Given the description of an element on the screen output the (x, y) to click on. 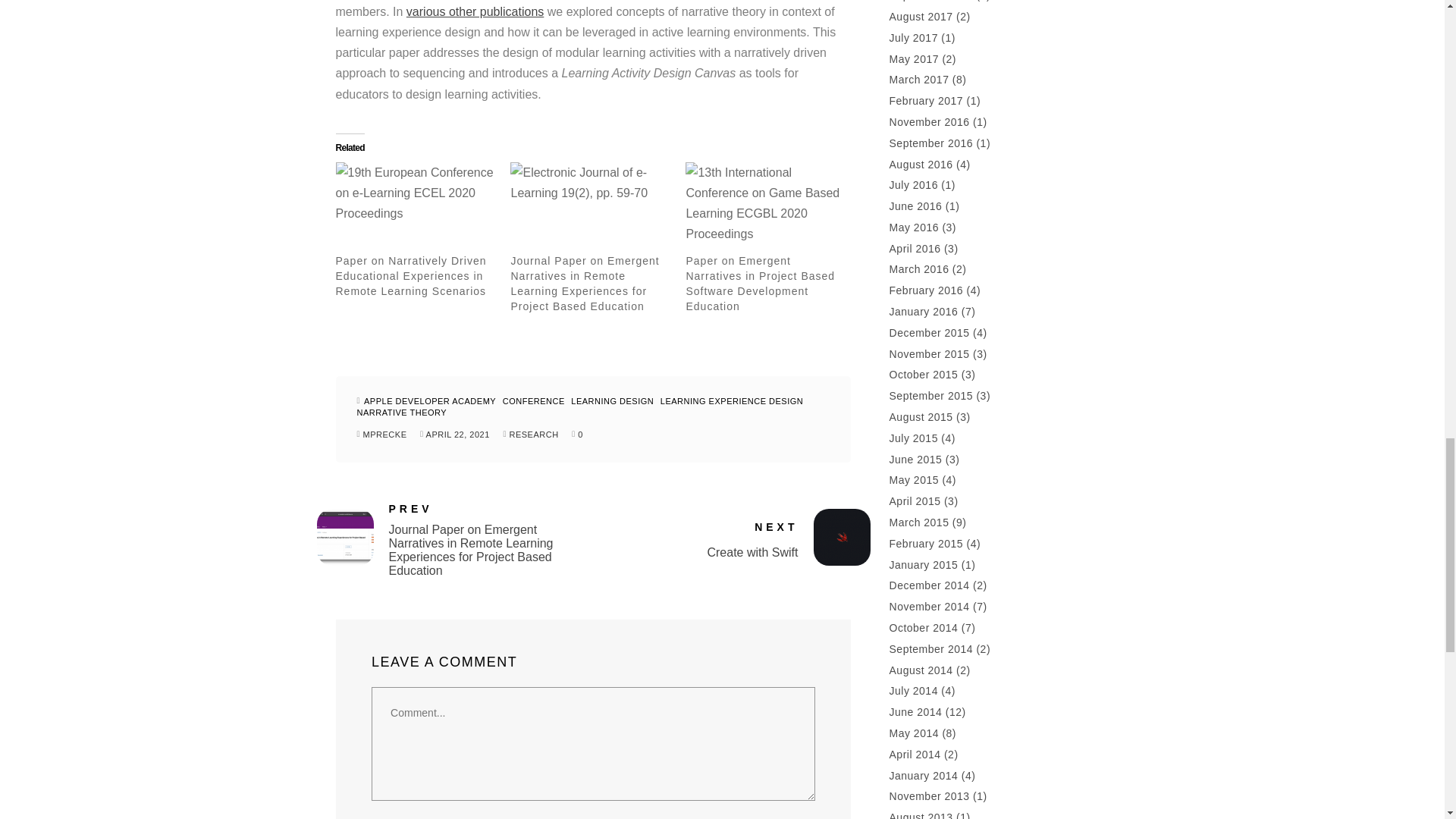
LEARNING EXPERIENCE DESIGN (733, 400)
CONFERENCE (535, 400)
NARRATIVE THEORY (402, 412)
RESEARCH (532, 433)
APPLE DEVELOPER ACADEMY (698, 552)
